Given the description of an element on the screen output the (x, y) to click on. 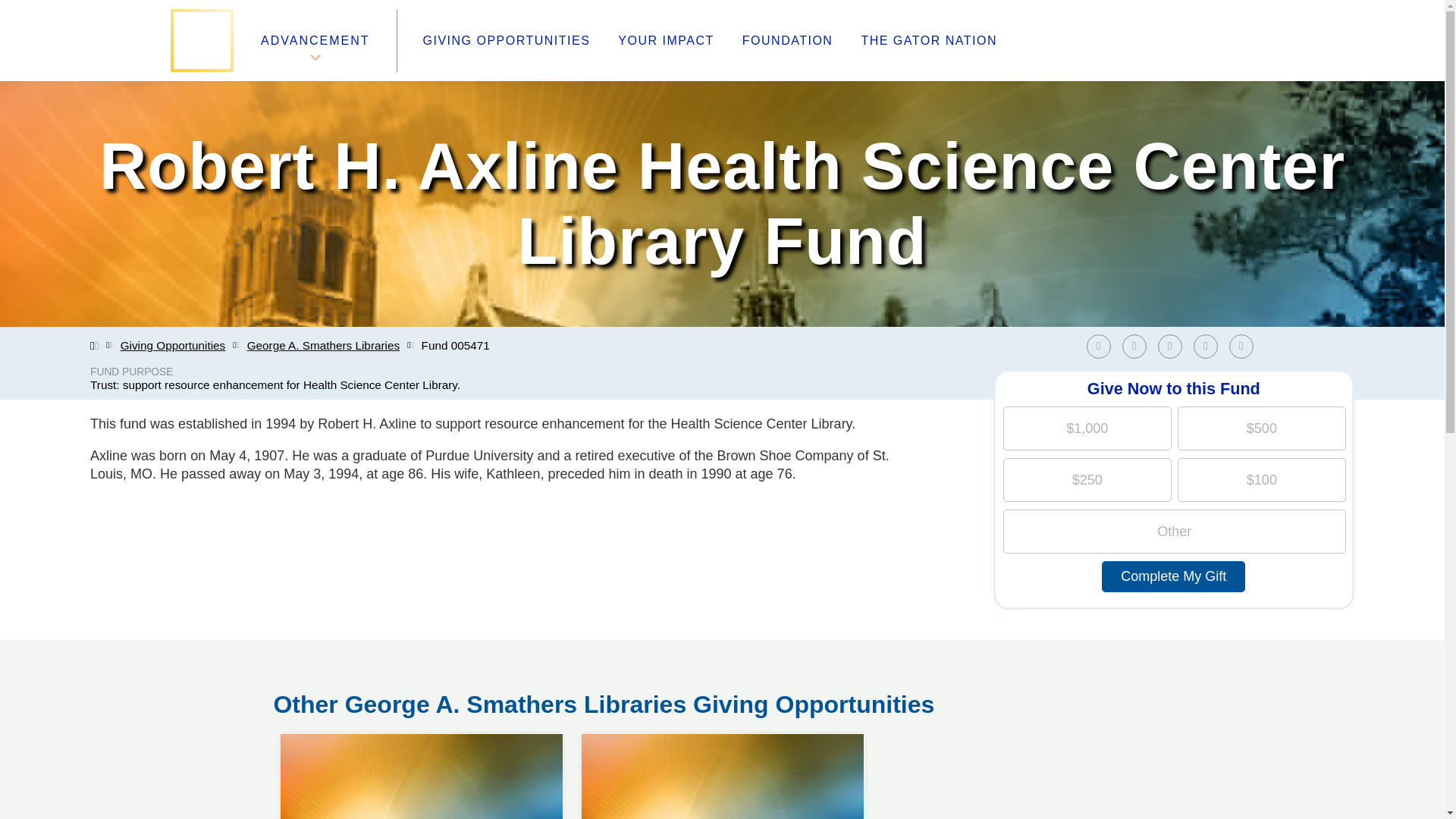
Share on LinkedIn (1173, 345)
GIVING OPPORTUNITIES (507, 40)
Complete My Gift (1173, 576)
YOUR IMPACT (721, 734)
Share on Twitter (665, 40)
Share by Email (1134, 346)
George A. Smathers Libraries (1244, 345)
FOUNDATION (323, 345)
Share on Reddit (787, 40)
